Given the description of an element on the screen output the (x, y) to click on. 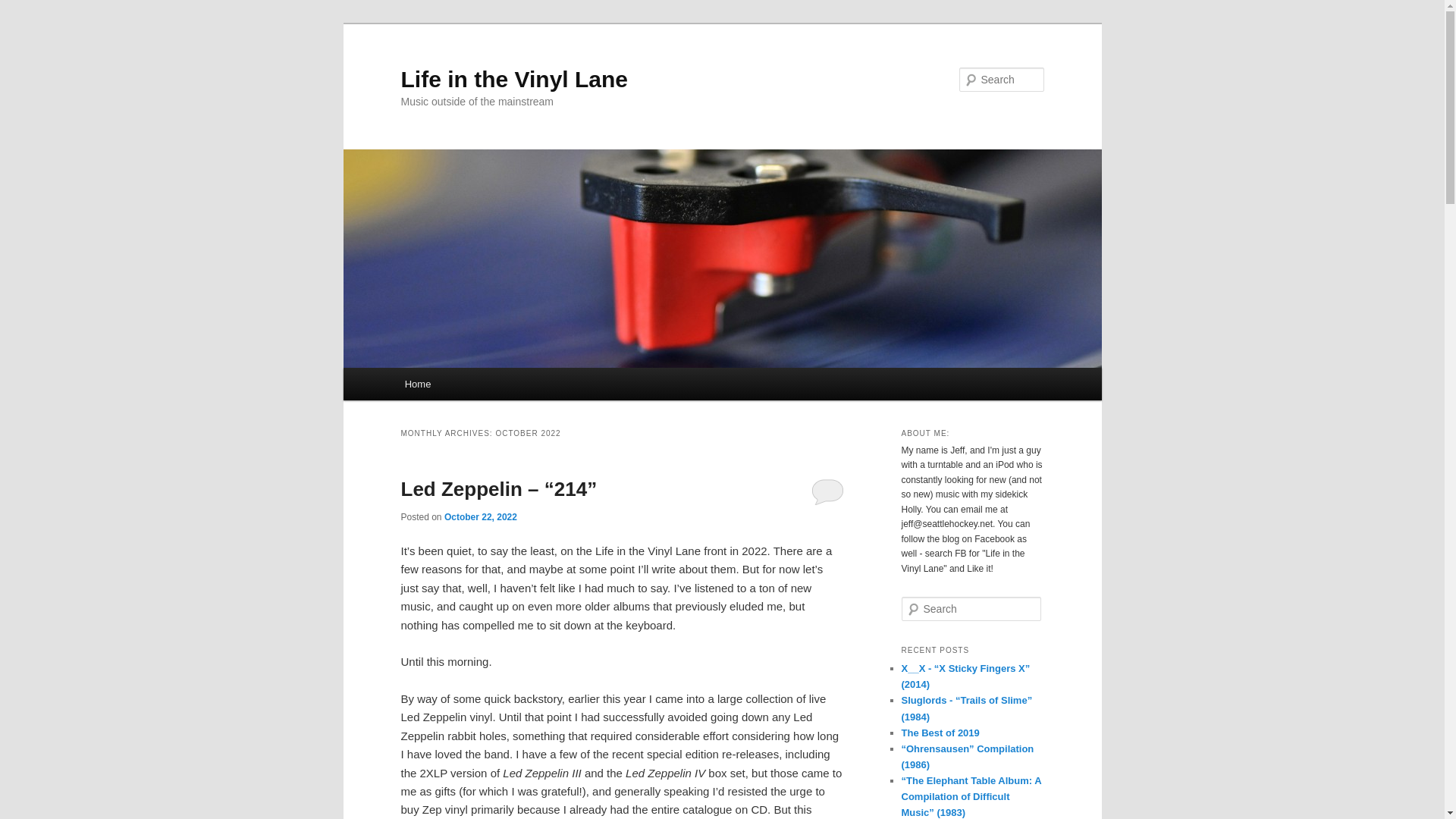
Search (21, 11)
11:14 AM (480, 516)
Skip to secondary content (479, 386)
Skip to primary content (472, 386)
Home (417, 383)
Life in the Vinyl Lane (513, 78)
Skip to secondary content (479, 386)
October 22, 2022 (480, 516)
The Best of 2019 (939, 732)
Search (24, 8)
Life in the Vinyl Lane (513, 78)
Skip to primary content (472, 386)
